Given the description of an element on the screen output the (x, y) to click on. 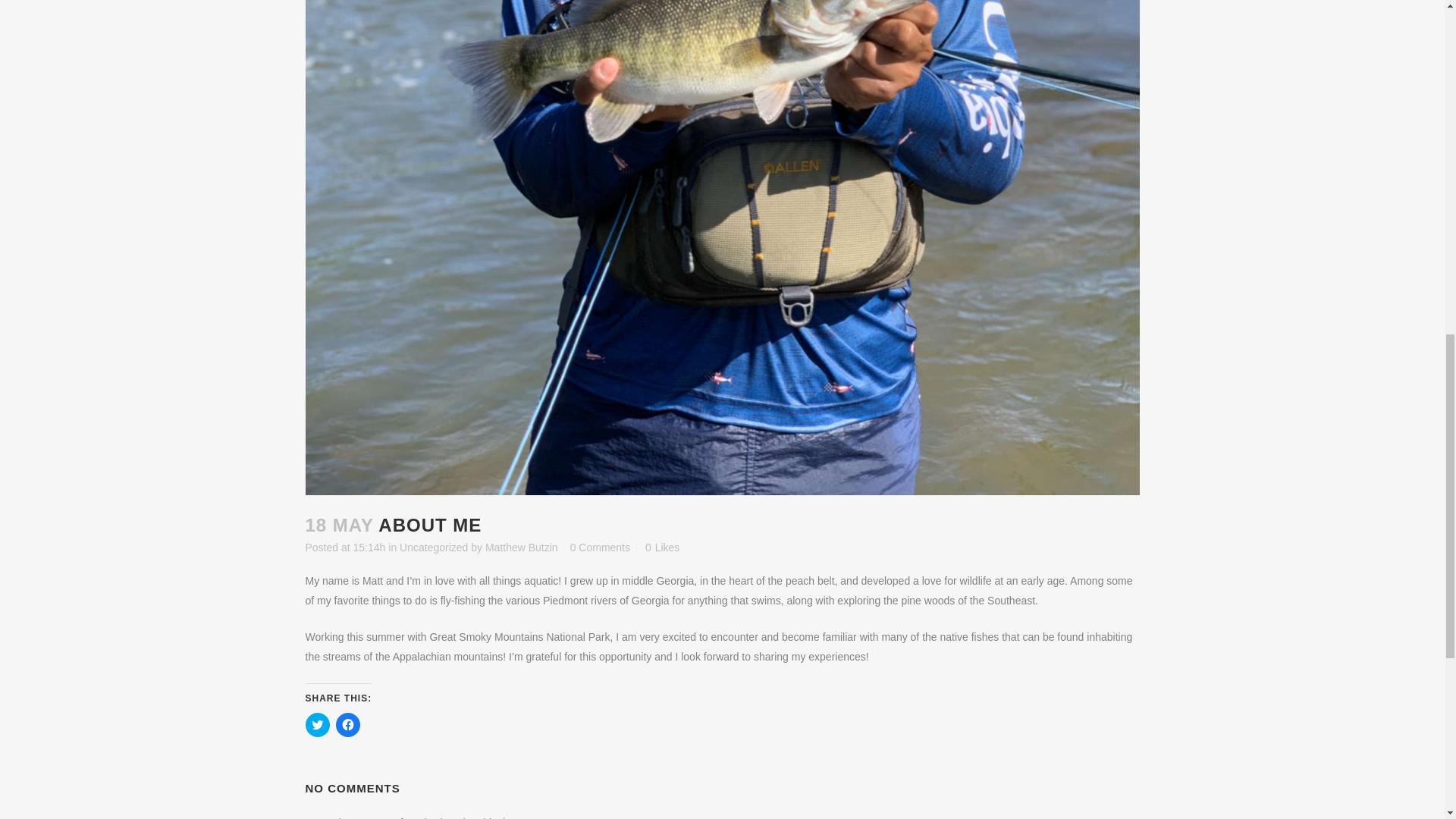
Click to share on Twitter (316, 724)
Click to share on Facebook (346, 724)
Like this (662, 547)
